Given the description of an element on the screen output the (x, y) to click on. 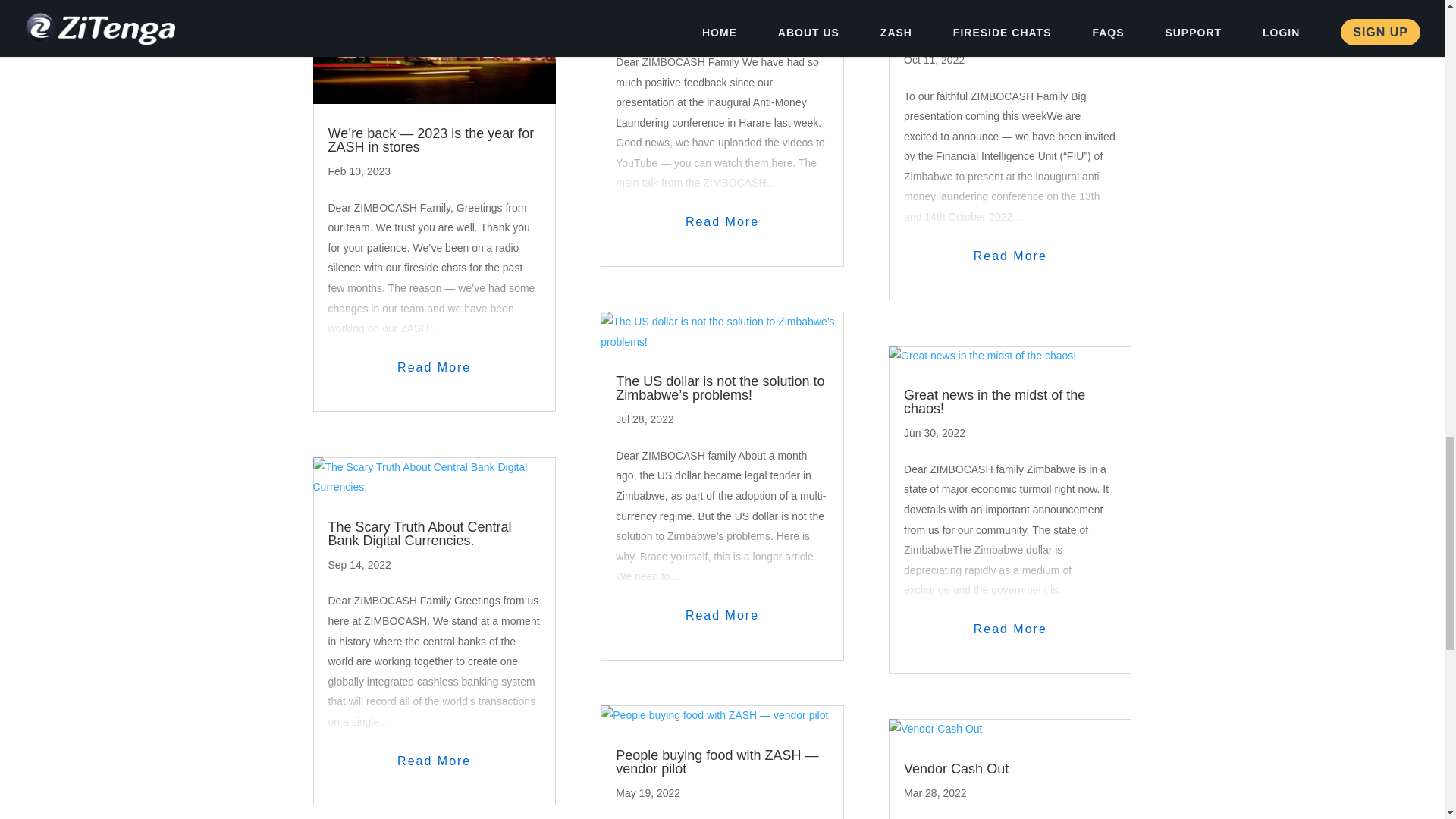
Read More (433, 761)
ZIMBOCASH invited to present at regulatory conference. (1006, 28)
The Scary Truth About Central Bank Digital Currencies. (419, 533)
Read More (721, 616)
Read More (433, 367)
The BIG Talk! (656, 4)
Read More (721, 222)
